Given the description of an element on the screen output the (x, y) to click on. 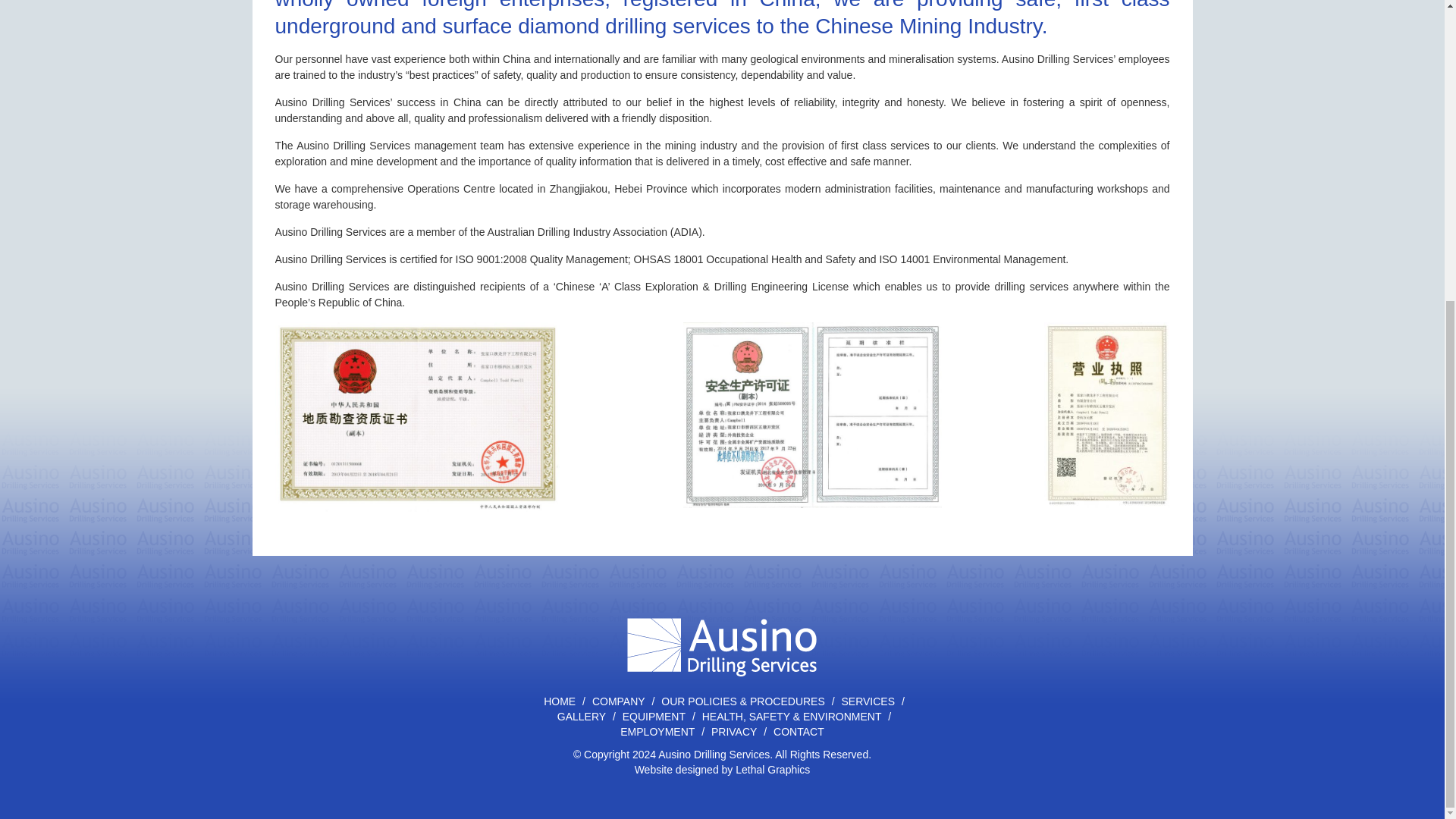
Ausino (722, 621)
GALLERY (581, 715)
EQUIPMENT (653, 715)
COMPANY (618, 700)
HOME (559, 700)
PRIVACY (733, 730)
EMPLOYMENT (656, 730)
CONTACT (799, 730)
SERVICES (867, 700)
Lethal Graphics (772, 768)
